Given the description of an element on the screen output the (x, y) to click on. 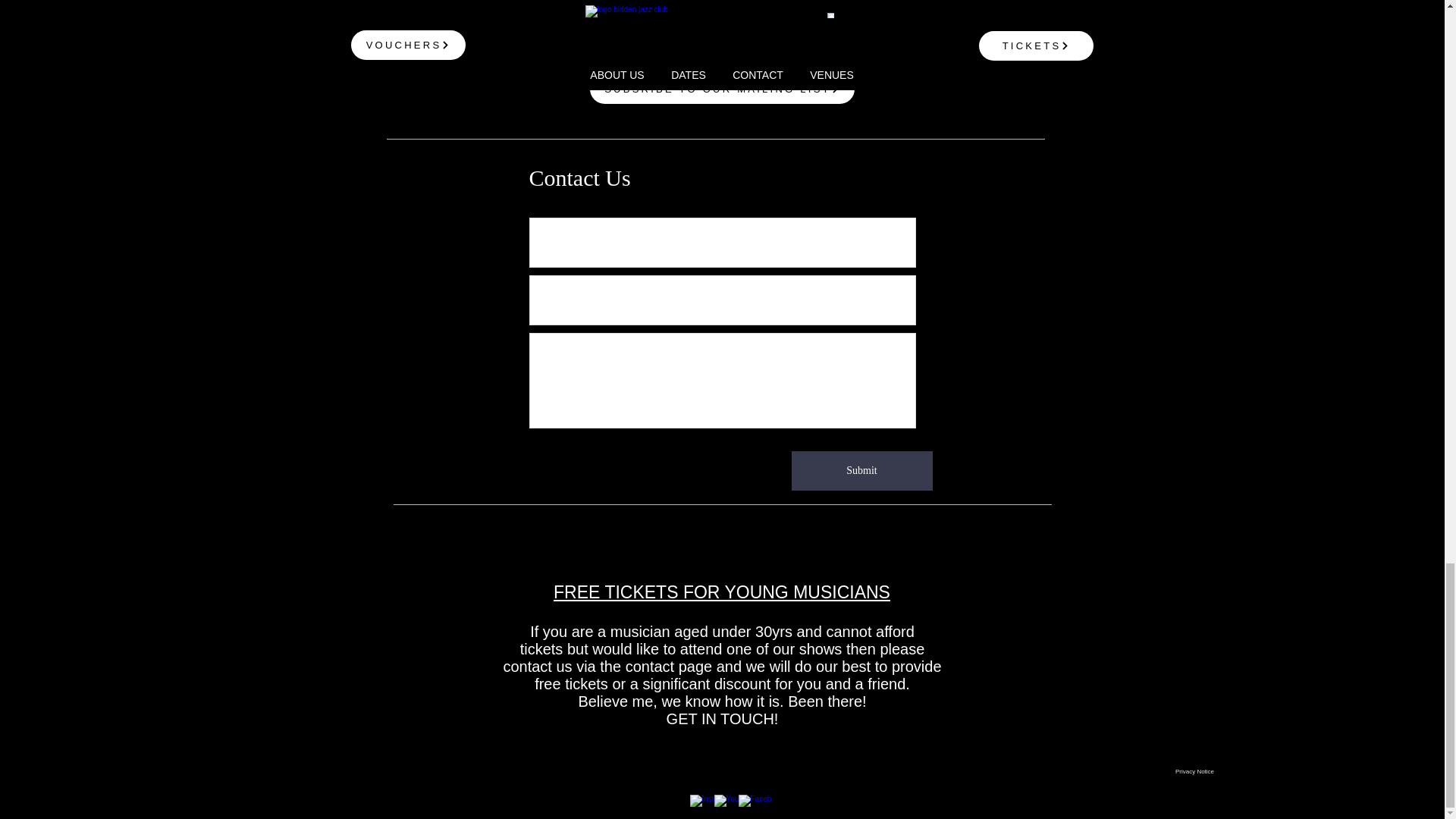
SUBSRIBE TO OUR MAILING LIST (721, 89)
Submit (862, 470)
Privacy Notice (1194, 770)
